Given the description of an element on the screen output the (x, y) to click on. 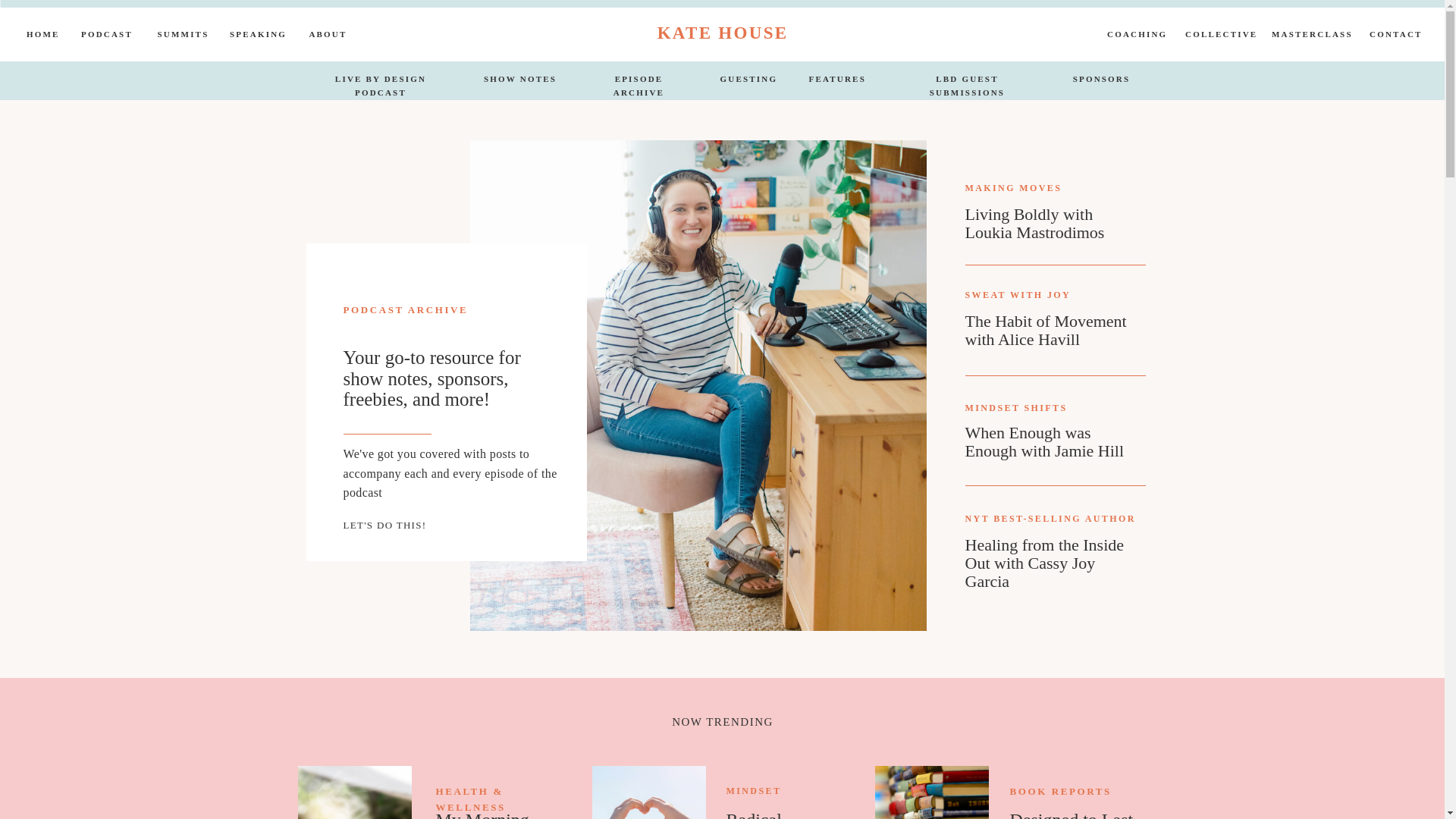
CONTACT (1395, 36)
COLLECTIVE (1217, 36)
SUMMITS (182, 36)
Living Boldly with Loukia Mastrodimos (1048, 227)
SPONSORS (1101, 81)
The Habit of Movement with Alice Havill (1048, 334)
Healing from the Inside Out with Cassy Joy Garcia (1048, 558)
MASTERCLASS (1310, 36)
COACHING (1136, 36)
FEATURES (836, 81)
When Enough was Enough with Jamie Hill (1048, 446)
LIVE BY DESIGN PODCAST (381, 81)
KATE HOUSE (722, 31)
LBD GUEST SUBMISSIONS (967, 81)
ABOUT (327, 36)
